Given the description of an element on the screen output the (x, y) to click on. 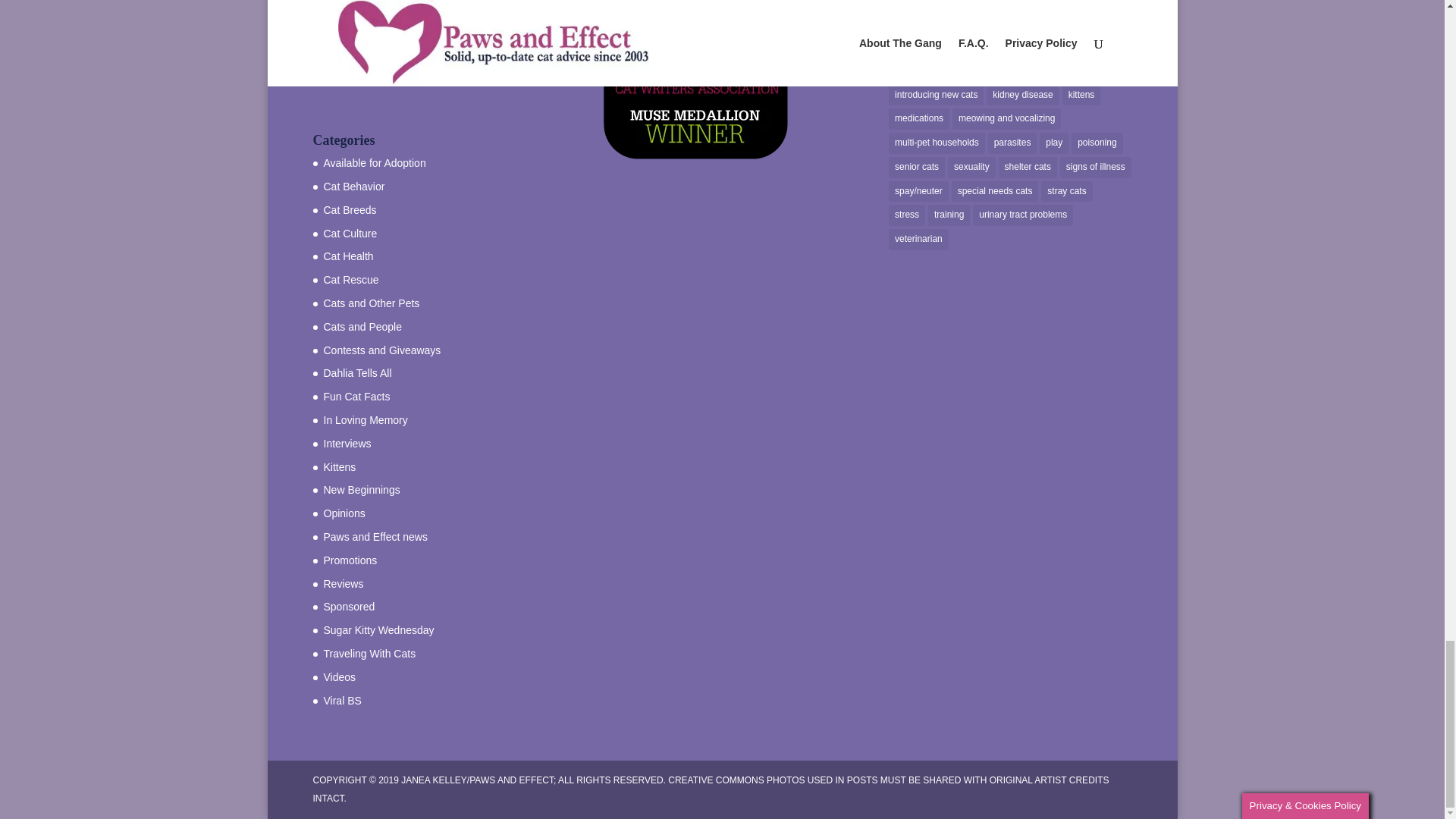
Contests and Giveaways (382, 349)
Cats and People (362, 326)
Cat Behavior (353, 186)
Cat Culture (350, 233)
In Loving Memory (365, 419)
Available for Adoption (374, 162)
Cats and Other Pets (371, 303)
Cat Rescue (350, 279)
Cat Health (347, 256)
Dahlia Tells All (357, 372)
Fun Cat Facts (356, 396)
Cat Breeds (349, 209)
